Given the description of an element on the screen output the (x, y) to click on. 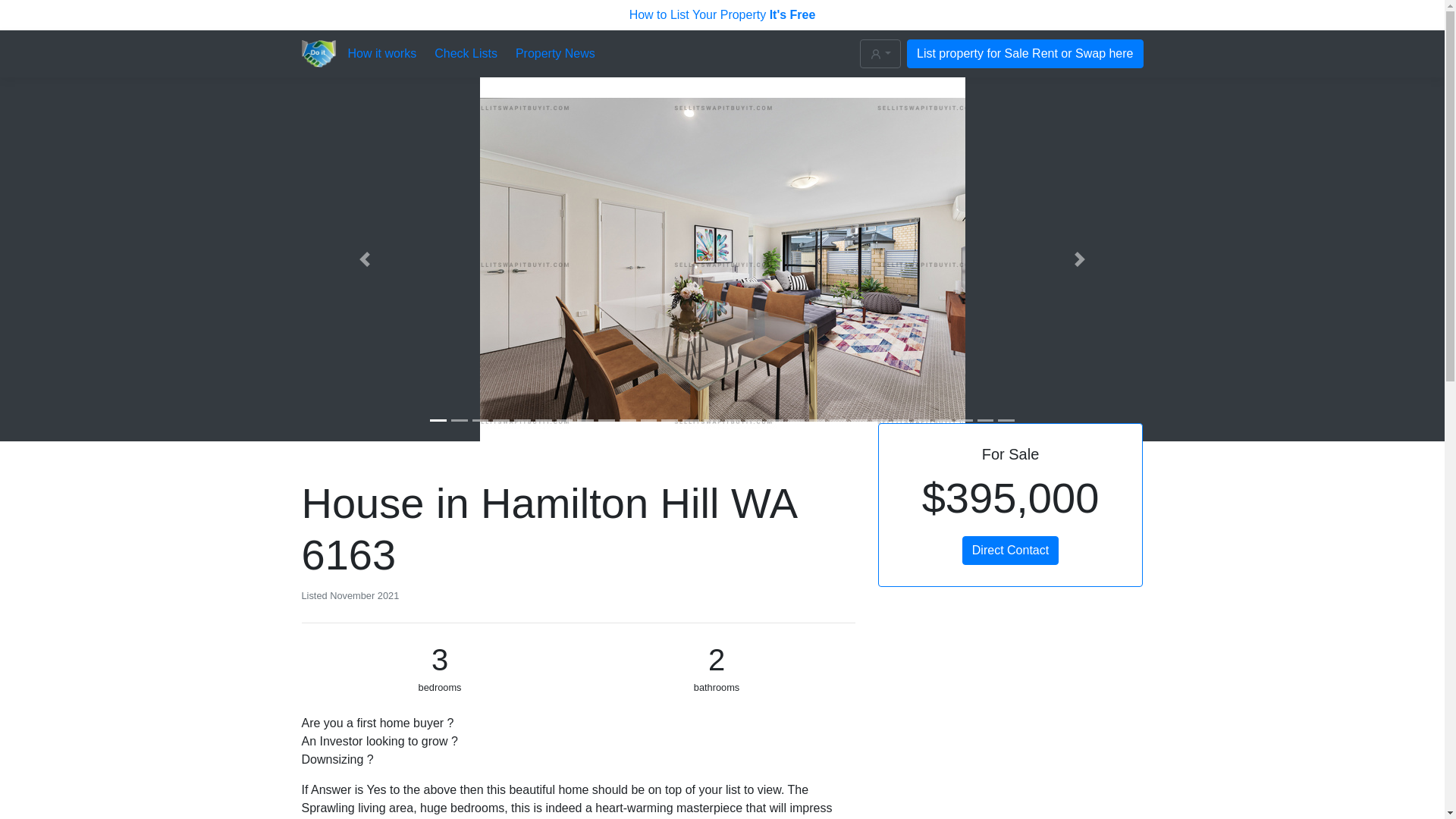
How it works (381, 54)
List property for Sale Rent or Swap here (1024, 53)
Check Lists (465, 54)
Direct Contact (1010, 550)
Property News (555, 54)
